Given the description of an element on the screen output the (x, y) to click on. 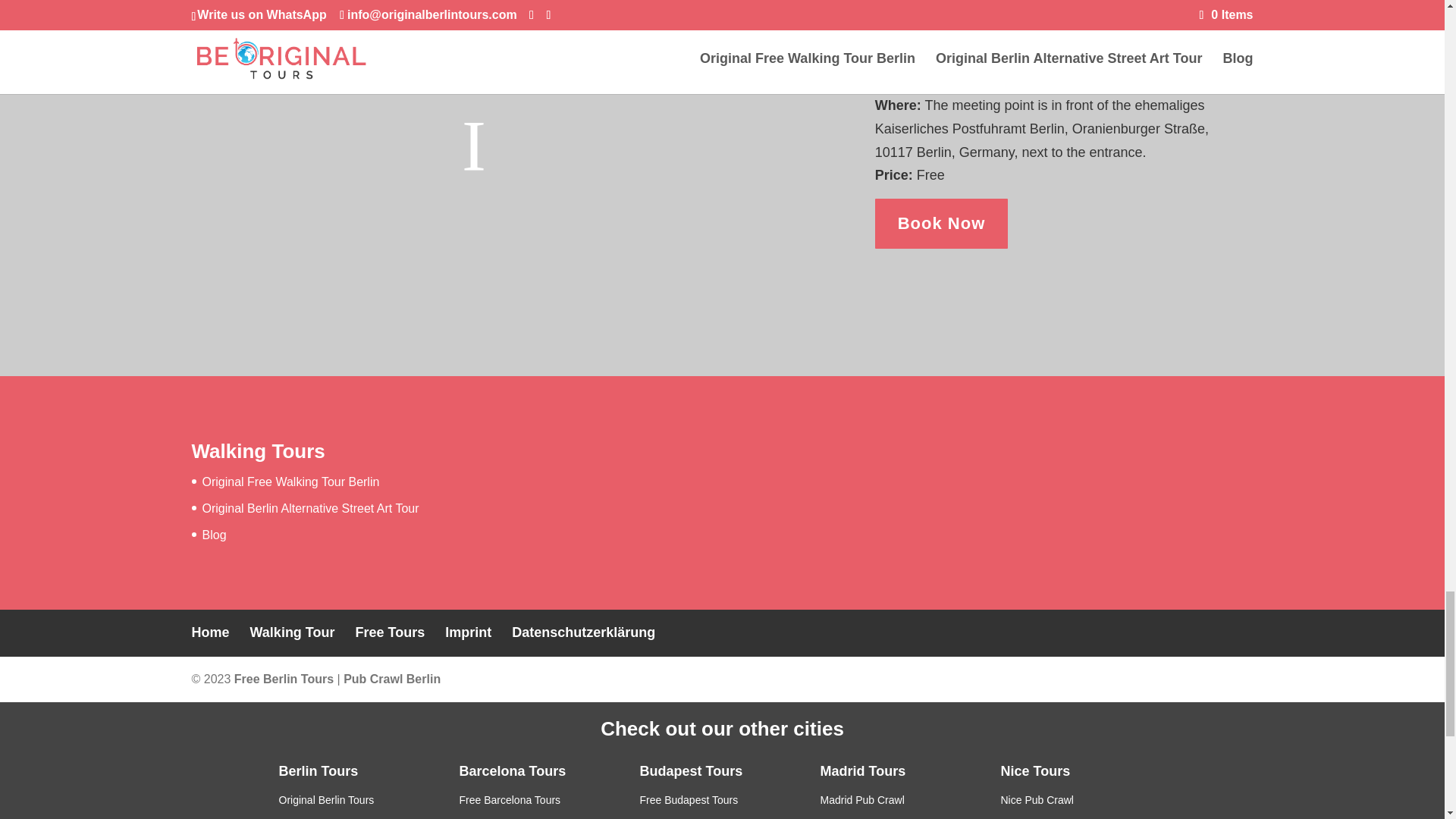
Original Free Walking Tour Berlin (290, 481)
Imprint (468, 631)
Book Now (942, 224)
Walking Tour (292, 631)
Home (209, 631)
Original Berlin Alternative Street Art Tour (310, 508)
Free Tours (390, 631)
Blog (213, 534)
